Given the description of an element on the screen output the (x, y) to click on. 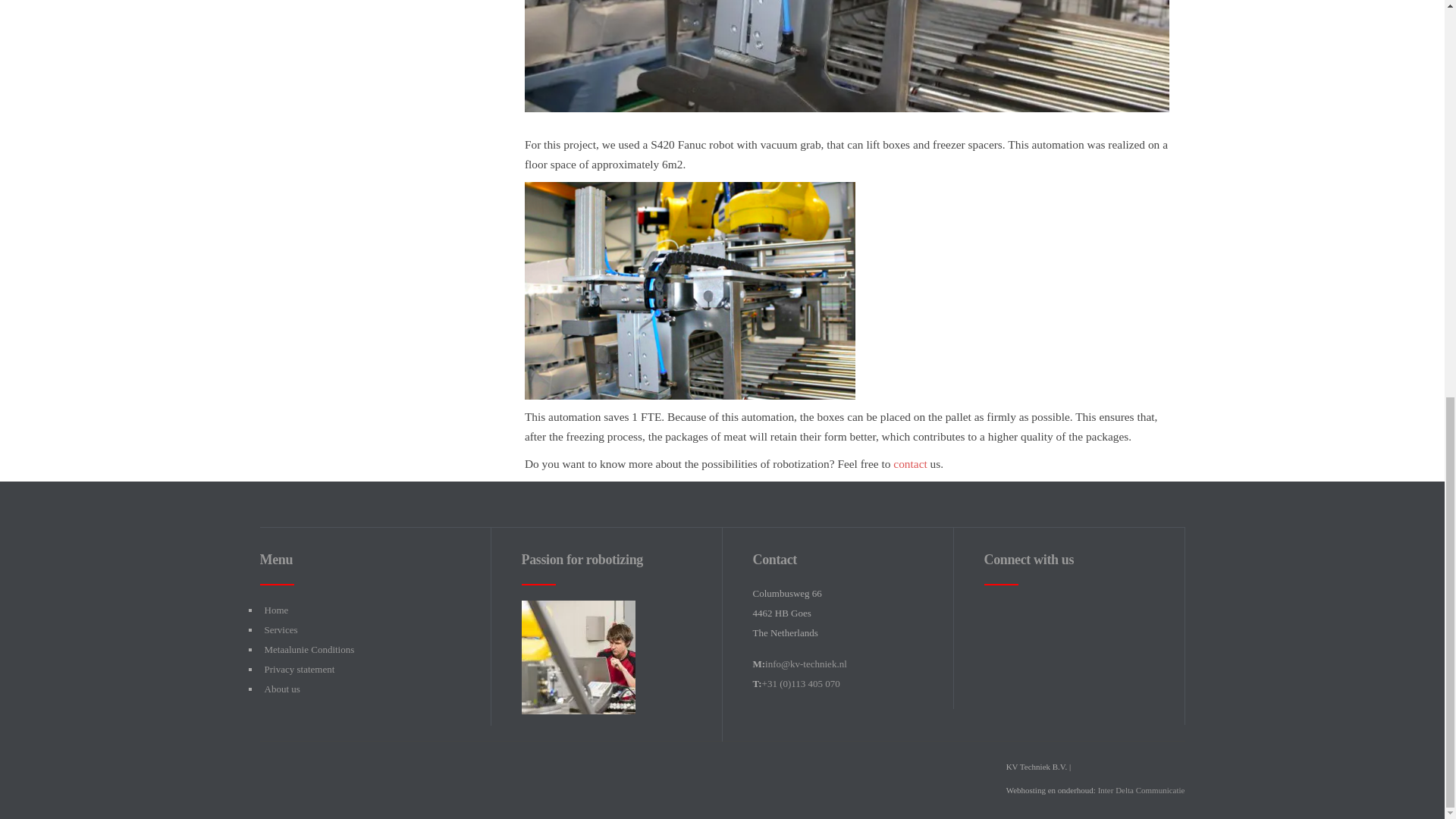
Privacy statement (298, 668)
contact (909, 463)
Home (275, 609)
Metaalunie Conditions (308, 649)
About us (281, 688)
Services (280, 629)
